Given the description of an element on the screen output the (x, y) to click on. 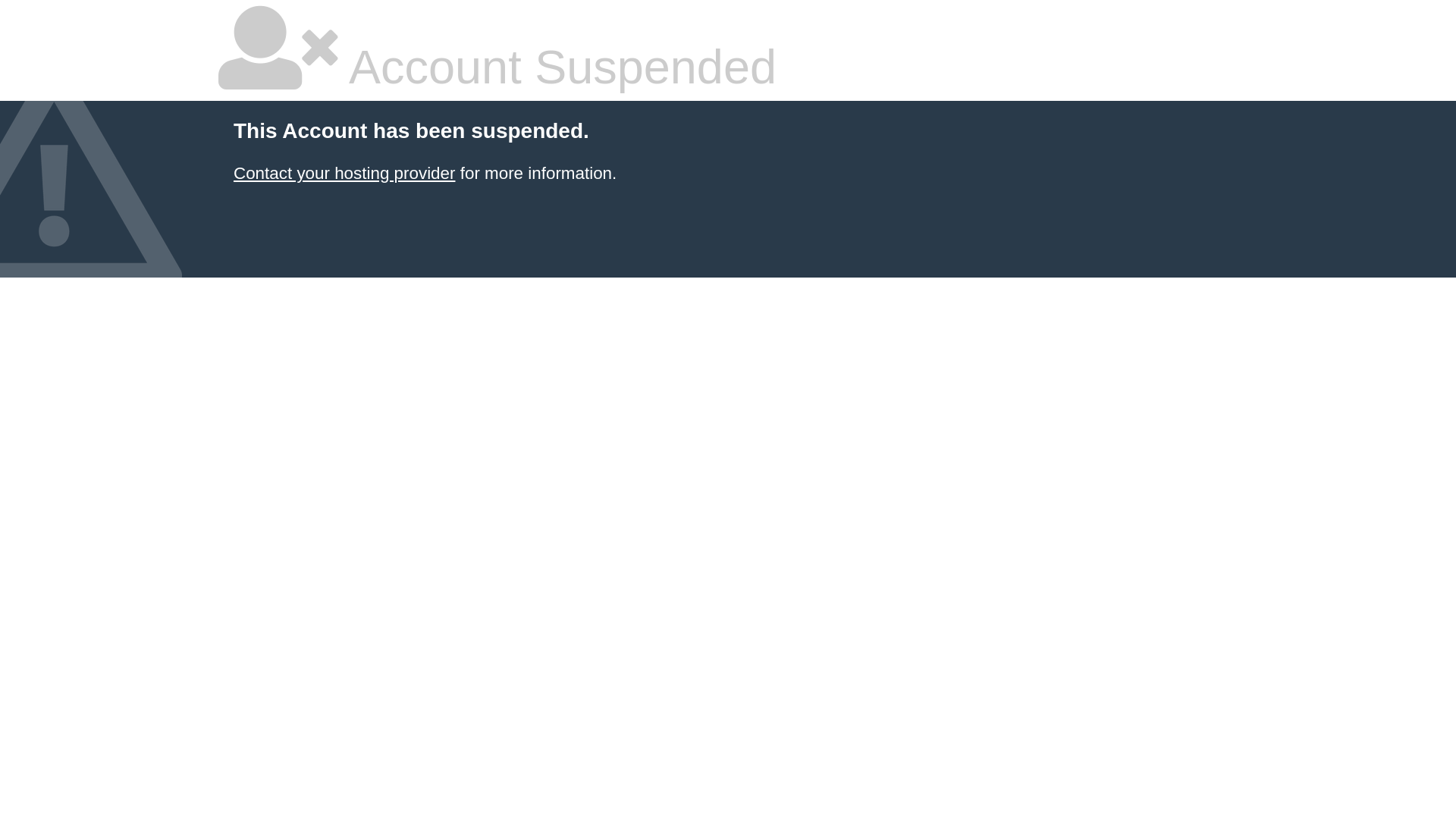
Contact your hosting provider Element type: text (344, 172)
